Given the description of an element on the screen output the (x, y) to click on. 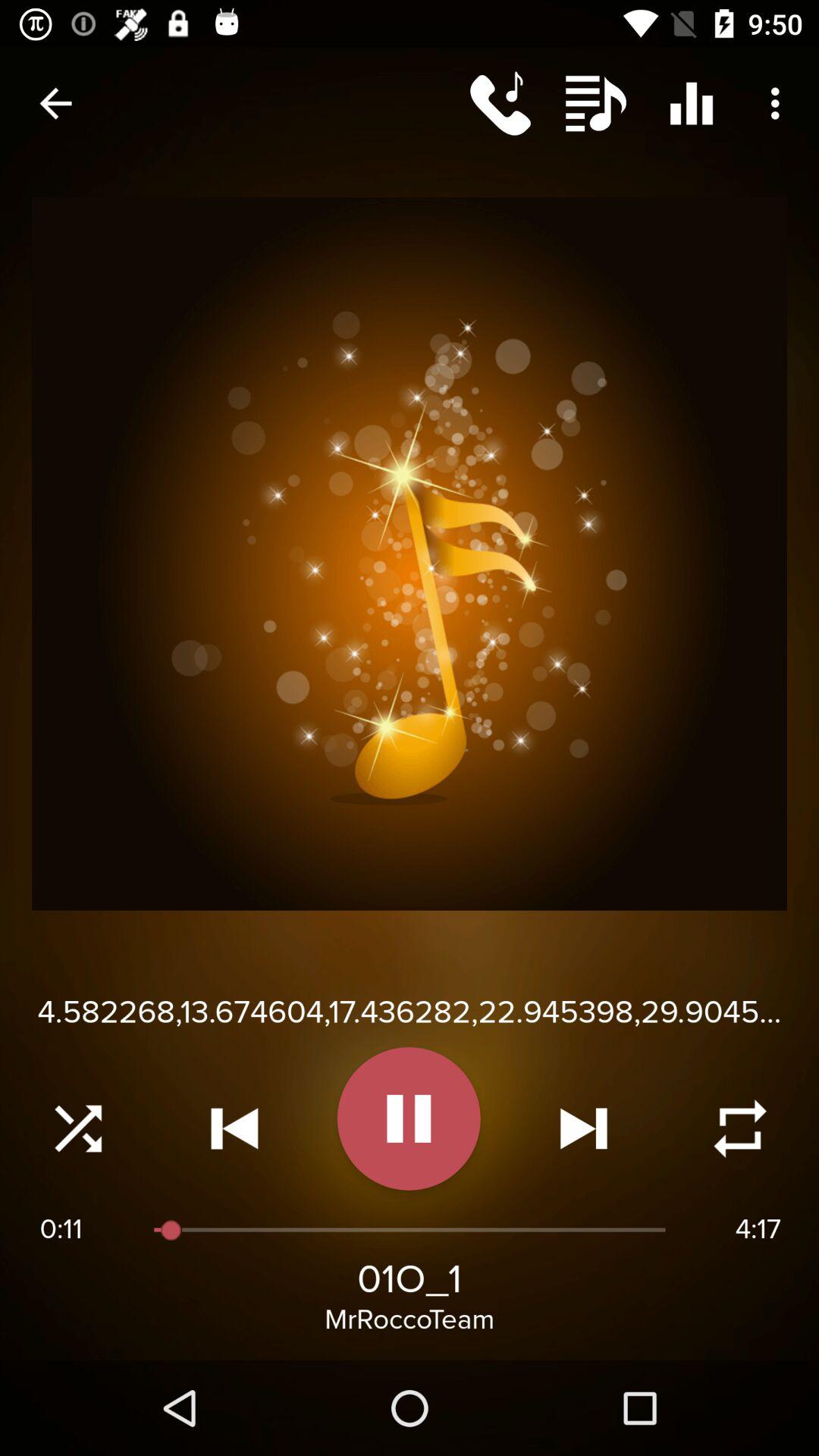
repeat the song (740, 1128)
